Given the description of an element on the screen output the (x, y) to click on. 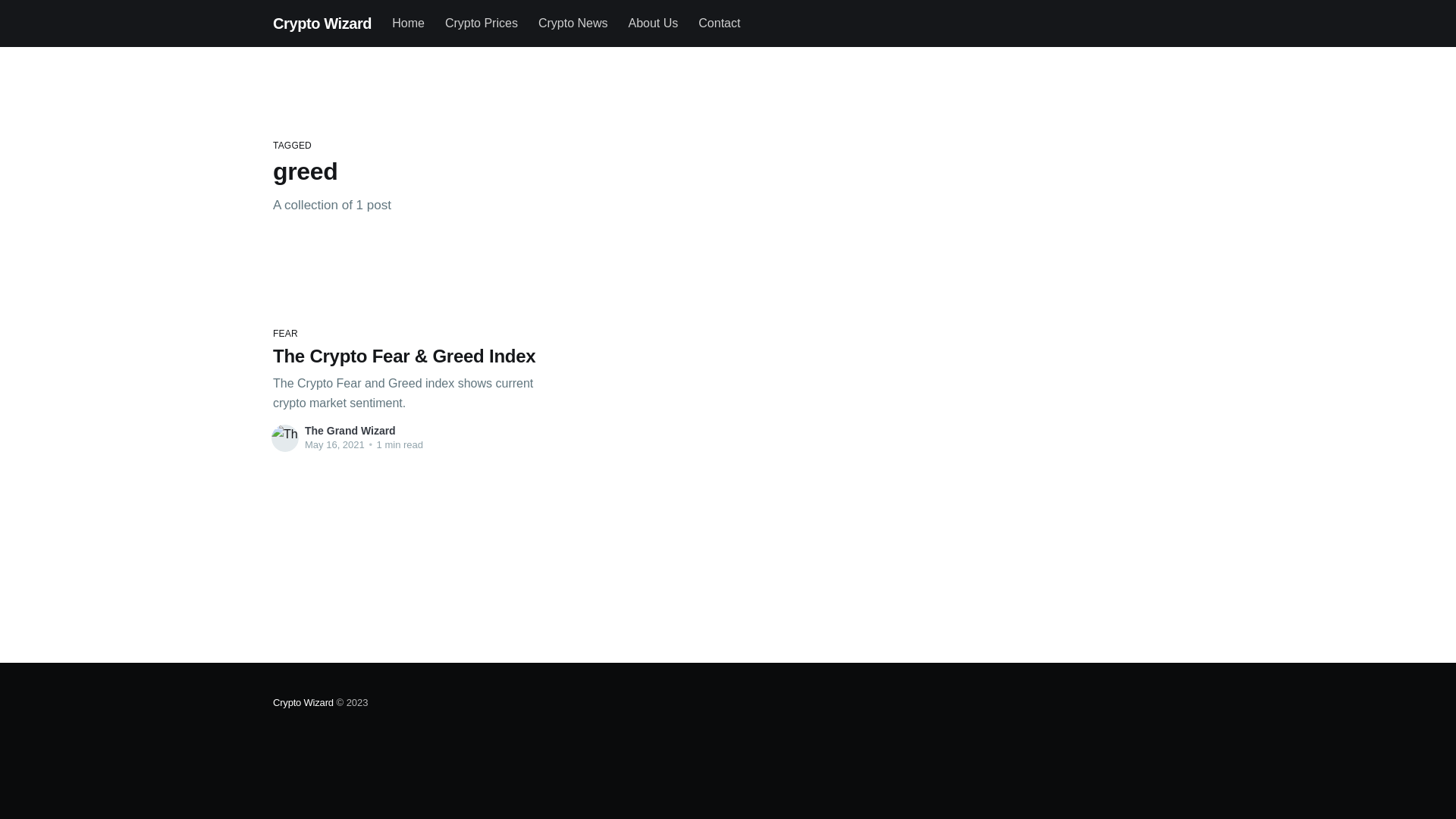
Crypto News Element type: text (573, 23)
Home Element type: text (408, 23)
About Us Element type: text (652, 23)
The Grand Wizard Element type: text (349, 430)
Crypto Wizard Element type: text (322, 23)
Contact Element type: text (719, 23)
Crypto Wizard Element type: text (303, 702)
Crypto Prices Element type: text (481, 23)
